Given the description of an element on the screen output the (x, y) to click on. 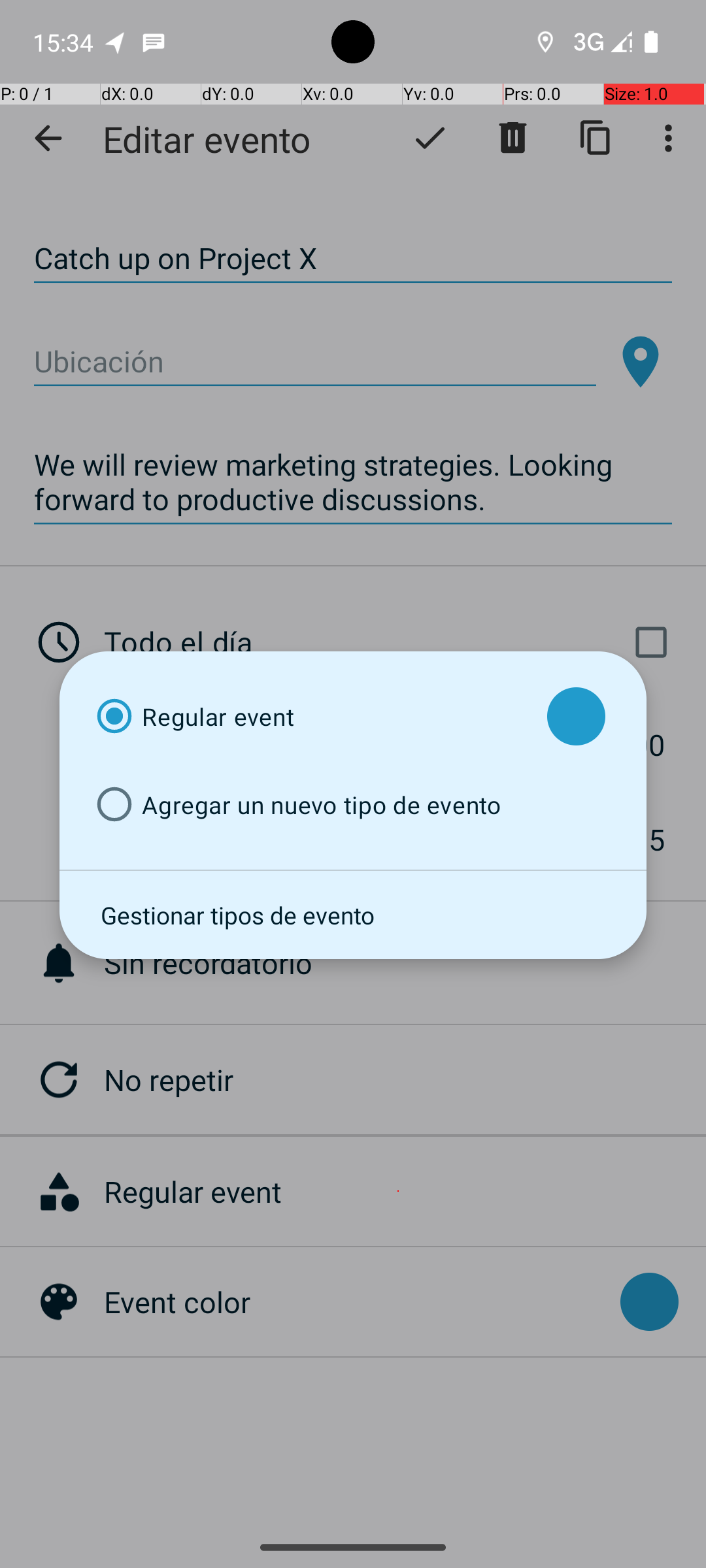
Gestionar tipos de evento Element type: android.widget.TextView (352, 914)
Regular event Element type: android.widget.RadioButton (309, 716)
Agregar un nuevo tipo de evento Element type: android.widget.RadioButton (309, 804)
